Given the description of an element on the screen output the (x, y) to click on. 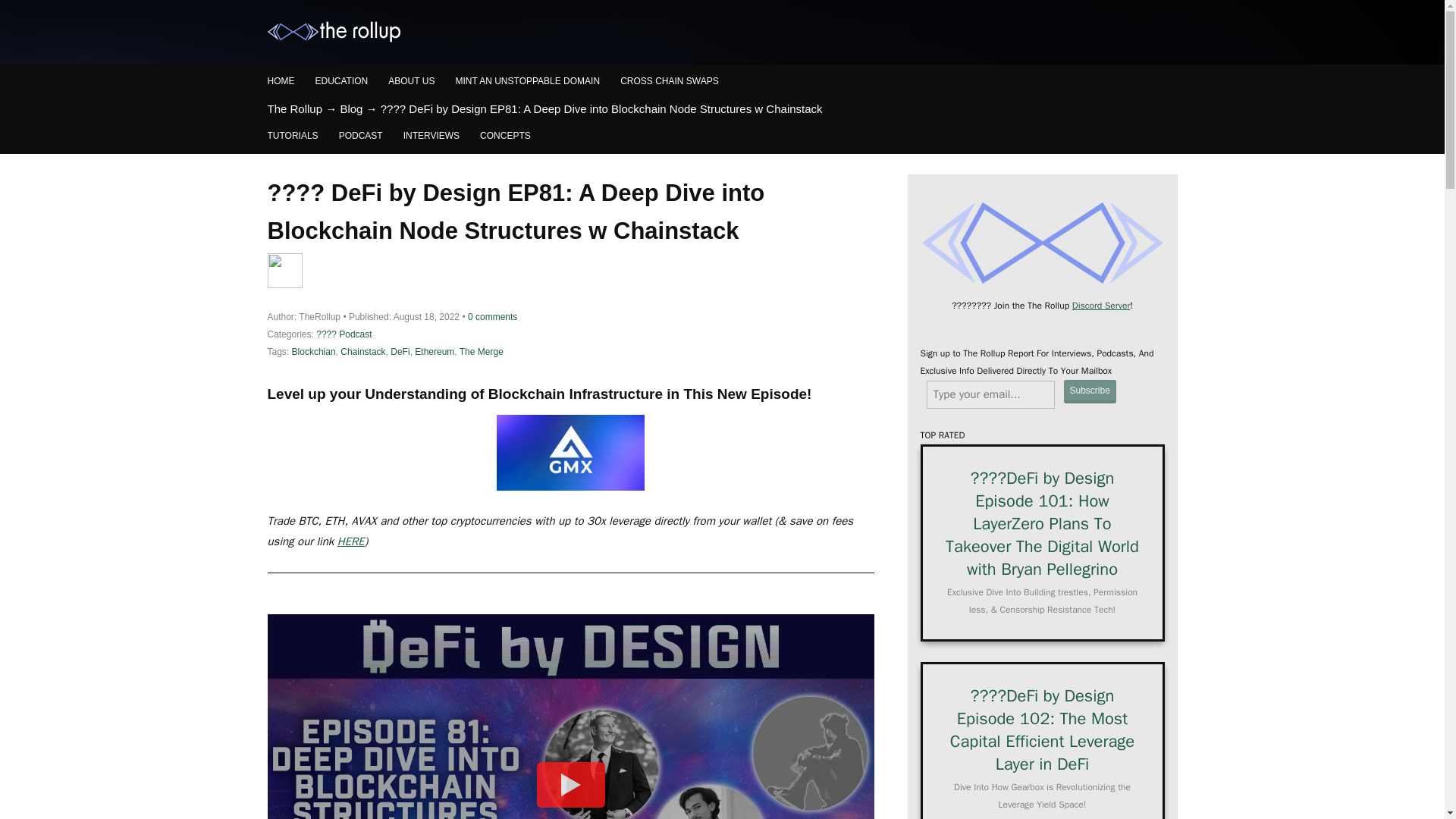
INTERVIEWS (431, 135)
TUTORIALS (291, 135)
The Rollup (293, 108)
Ethereum (434, 351)
PODCAST (360, 135)
DeFi (399, 351)
Blockchian (314, 351)
ABOUT US (410, 81)
HERE (351, 540)
CONCEPTS (505, 135)
The Merge (481, 351)
MINT AN UNSTOPPABLE DOMAIN (526, 81)
Subscribe (1088, 391)
2022-08-18 (426, 317)
Chainstack (362, 351)
